Given the description of an element on the screen output the (x, y) to click on. 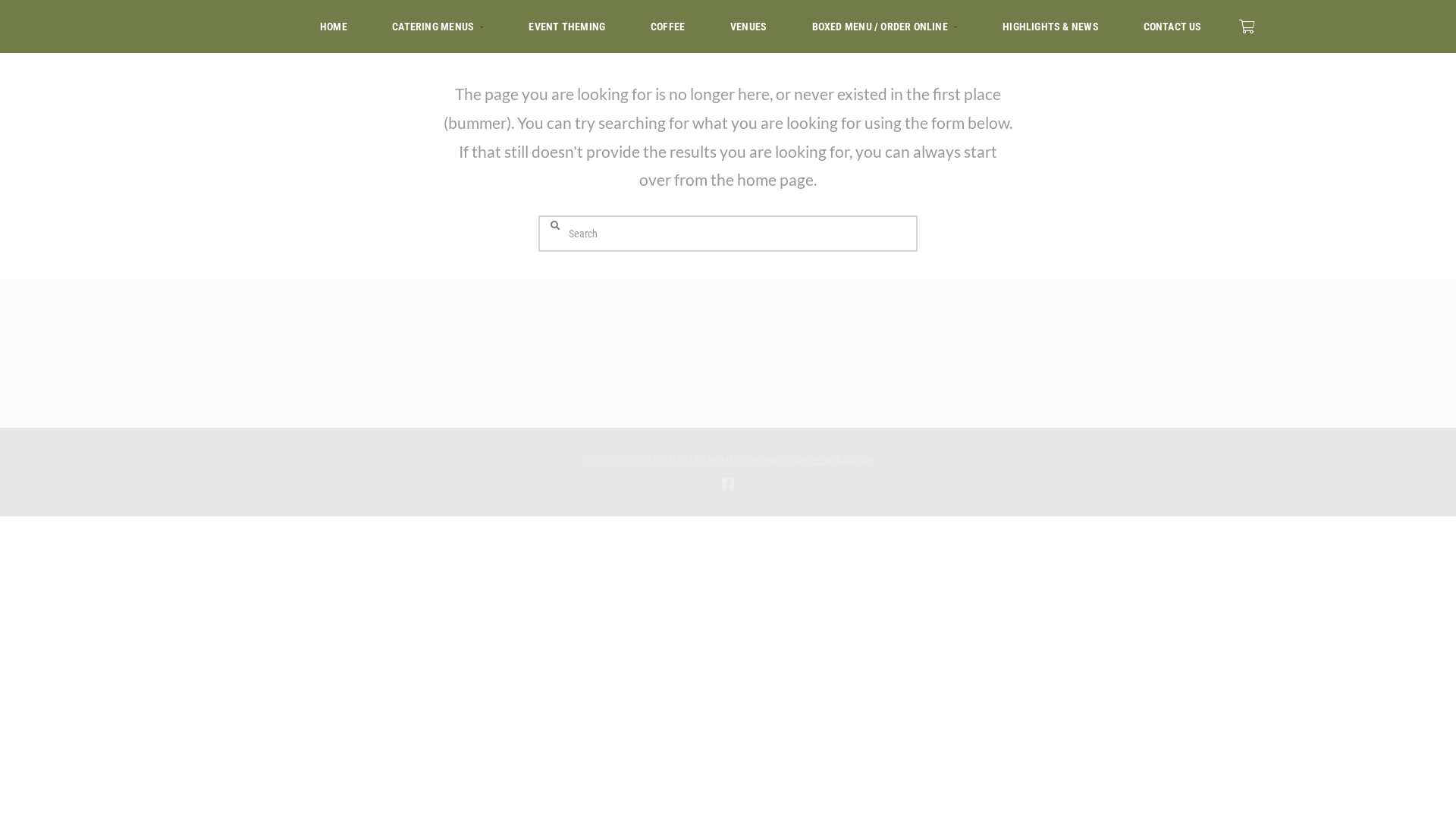
CATERING MENUS Element type: text (437, 26)
VENUES Element type: text (748, 26)
CONTACT US Element type: text (1172, 26)
BOXED MENU / ORDER ONLINE Element type: text (884, 26)
HOME Element type: text (333, 26)
HIGHLIGHTS & NEWS Element type: text (1050, 26)
EVENT THEMING Element type: text (566, 26)
Facebook Element type: hover (727, 482)
COFFEE Element type: text (666, 26)
STUDIO 44 WEB DESIGN Element type: text (826, 459)
